Given the description of an element on the screen output the (x, y) to click on. 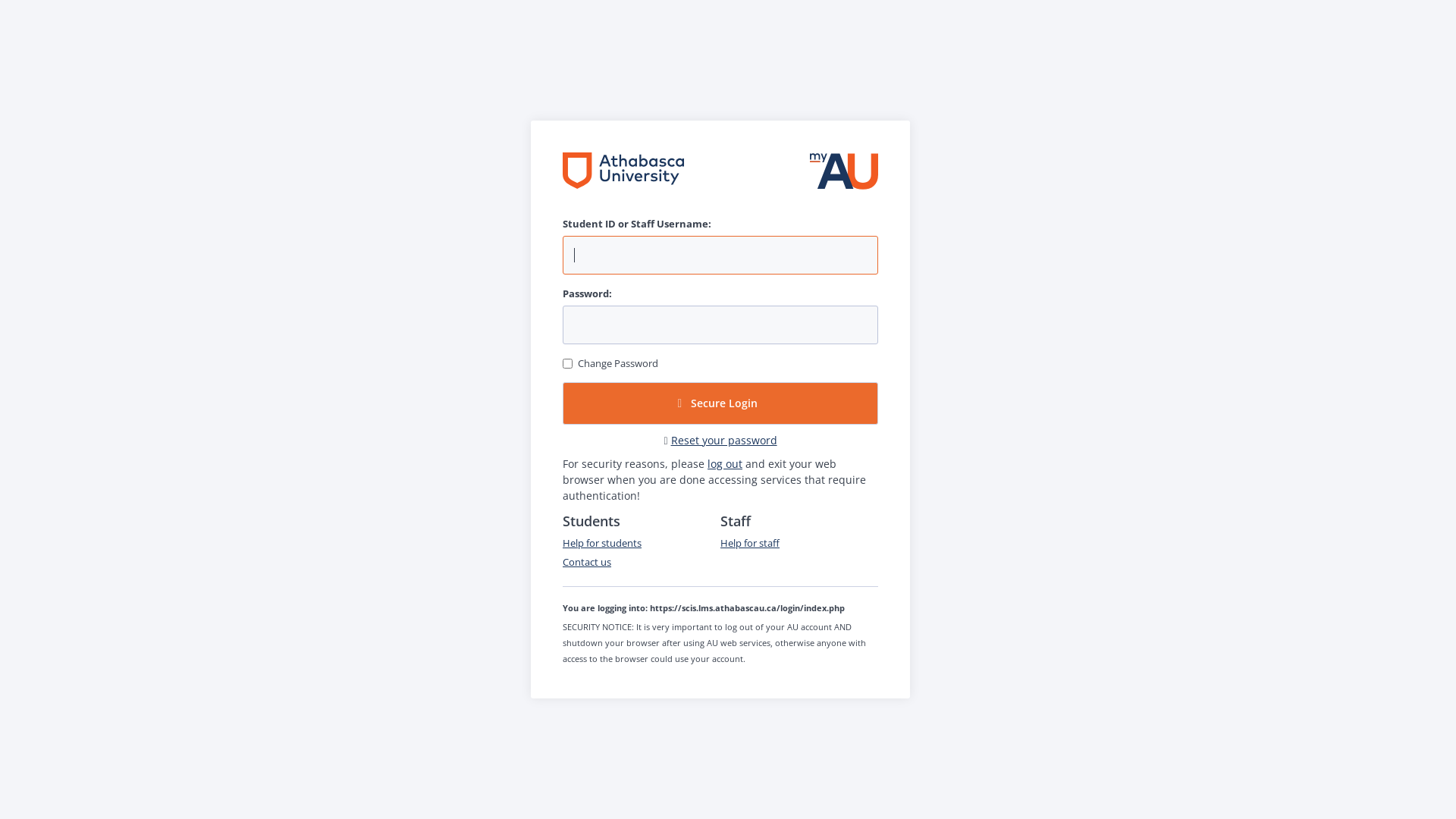
Reset your password Element type: text (724, 440)
Secure Login Element type: text (720, 403)
Help for staff Element type: text (749, 542)
Contact us Element type: text (586, 561)
log out Element type: text (724, 463)
Help for students Element type: text (601, 542)
